Given the description of an element on the screen output the (x, y) to click on. 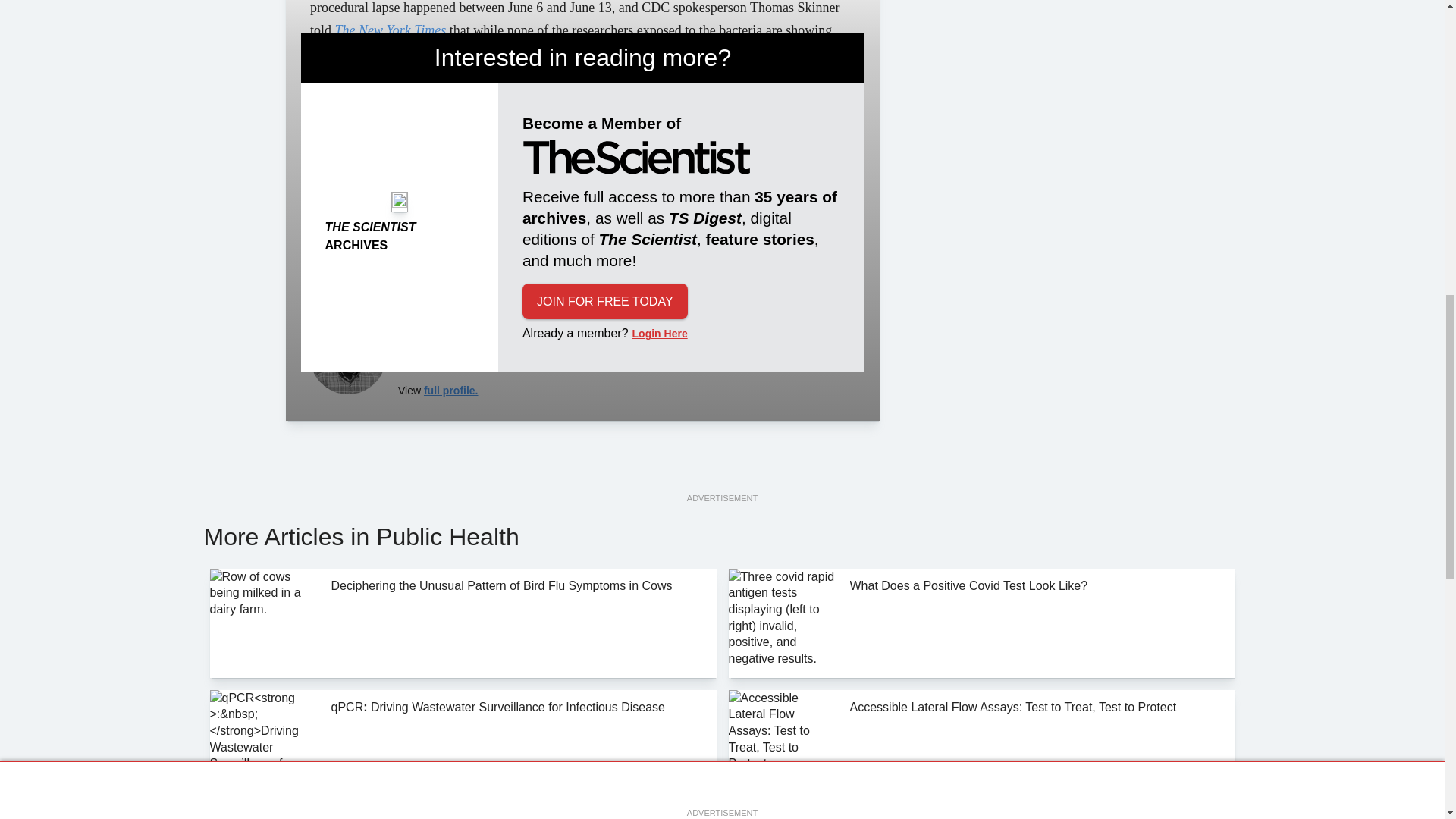
Bob Grant (347, 355)
